Given the description of an element on the screen output the (x, y) to click on. 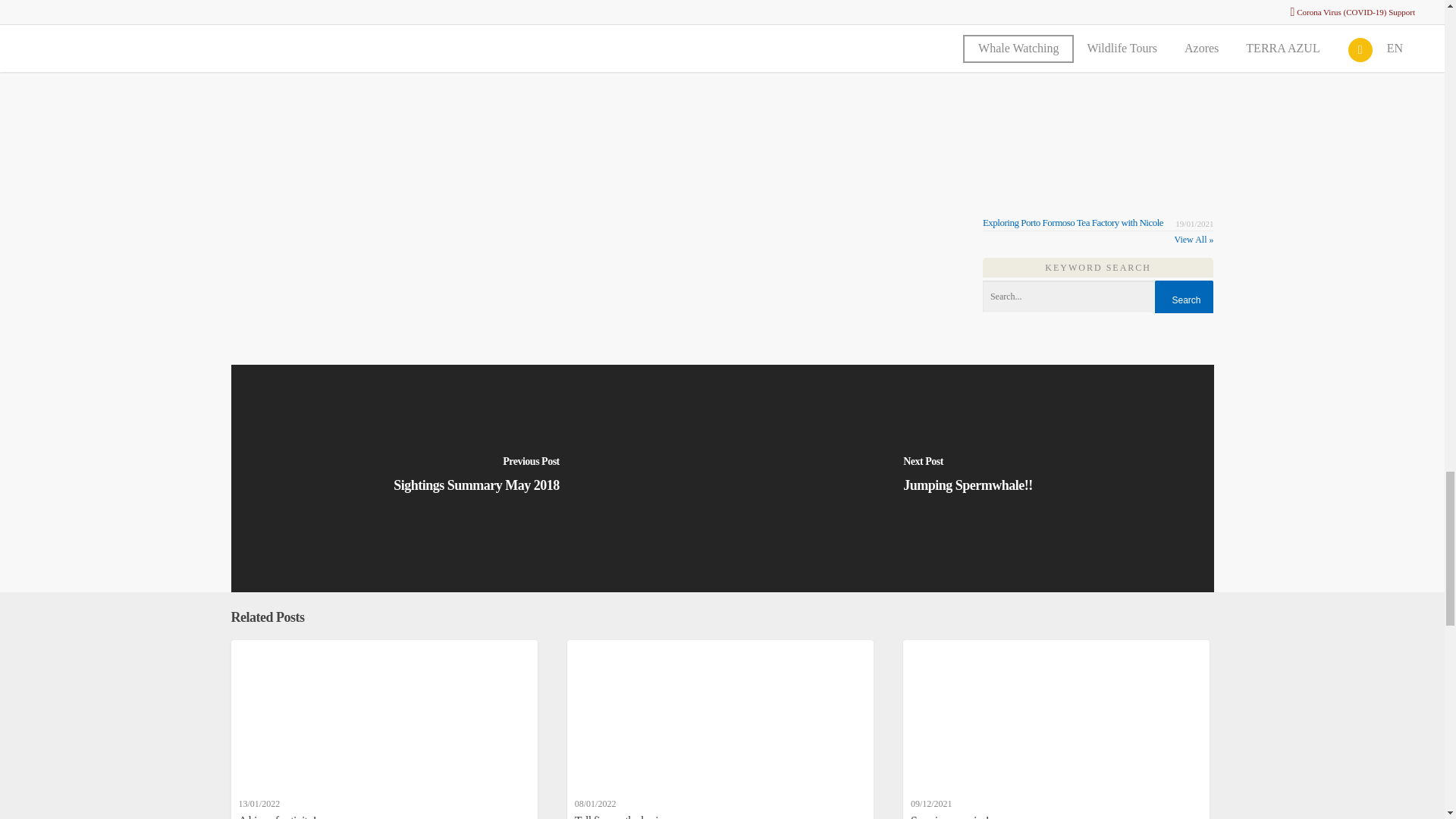
Search (1183, 300)
Search (1183, 300)
